Given the description of an element on the screen output the (x, y) to click on. 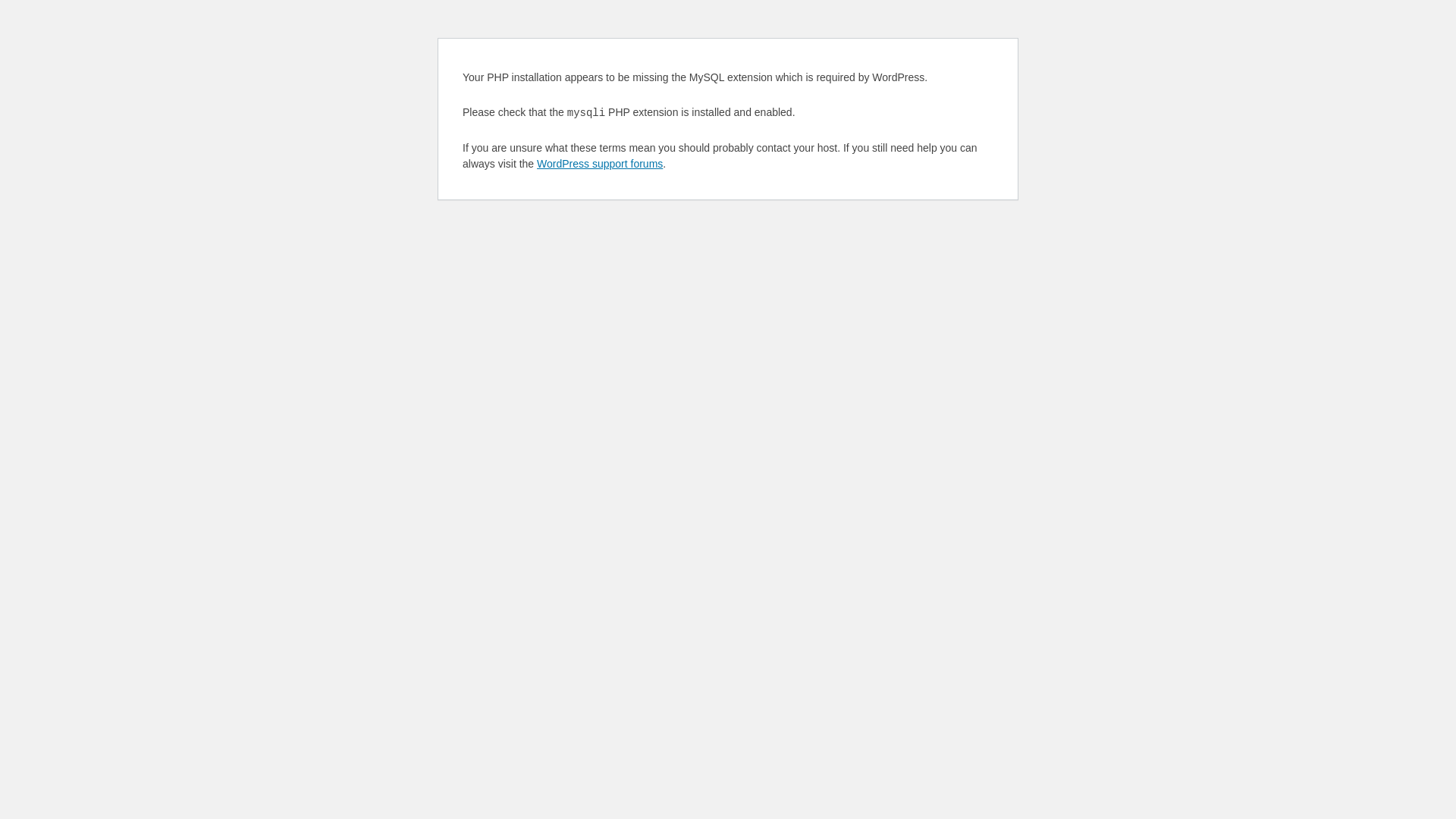
WordPress support forums Element type: text (599, 163)
